Given the description of an element on the screen output the (x, y) to click on. 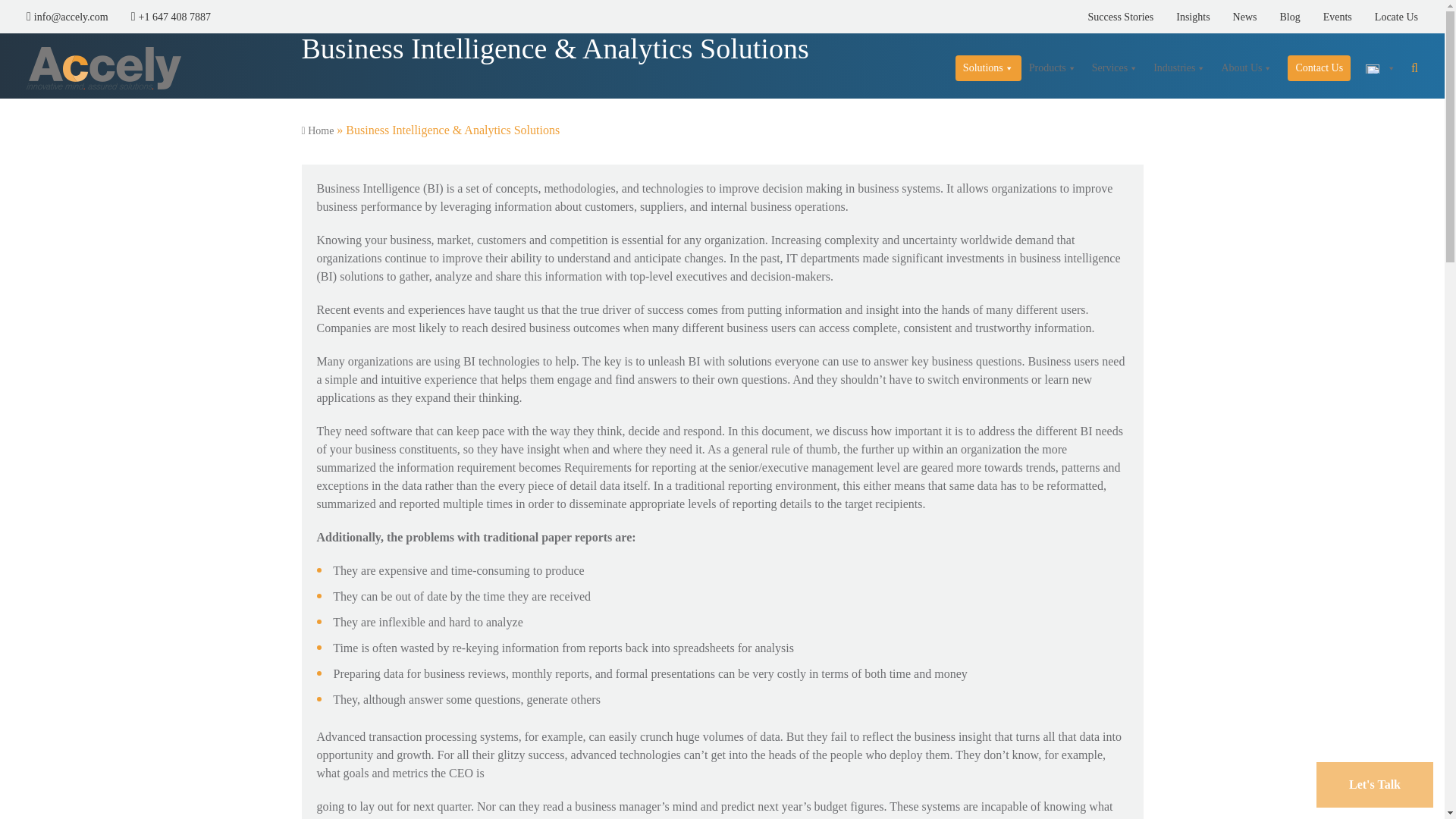
Locate Us (1385, 16)
Egypt (1380, 68)
Solutions (988, 68)
Success Stories (1109, 16)
Blog (1278, 16)
Events (1326, 16)
News (1233, 16)
Insights (1181, 16)
